Given the description of an element on the screen output the (x, y) to click on. 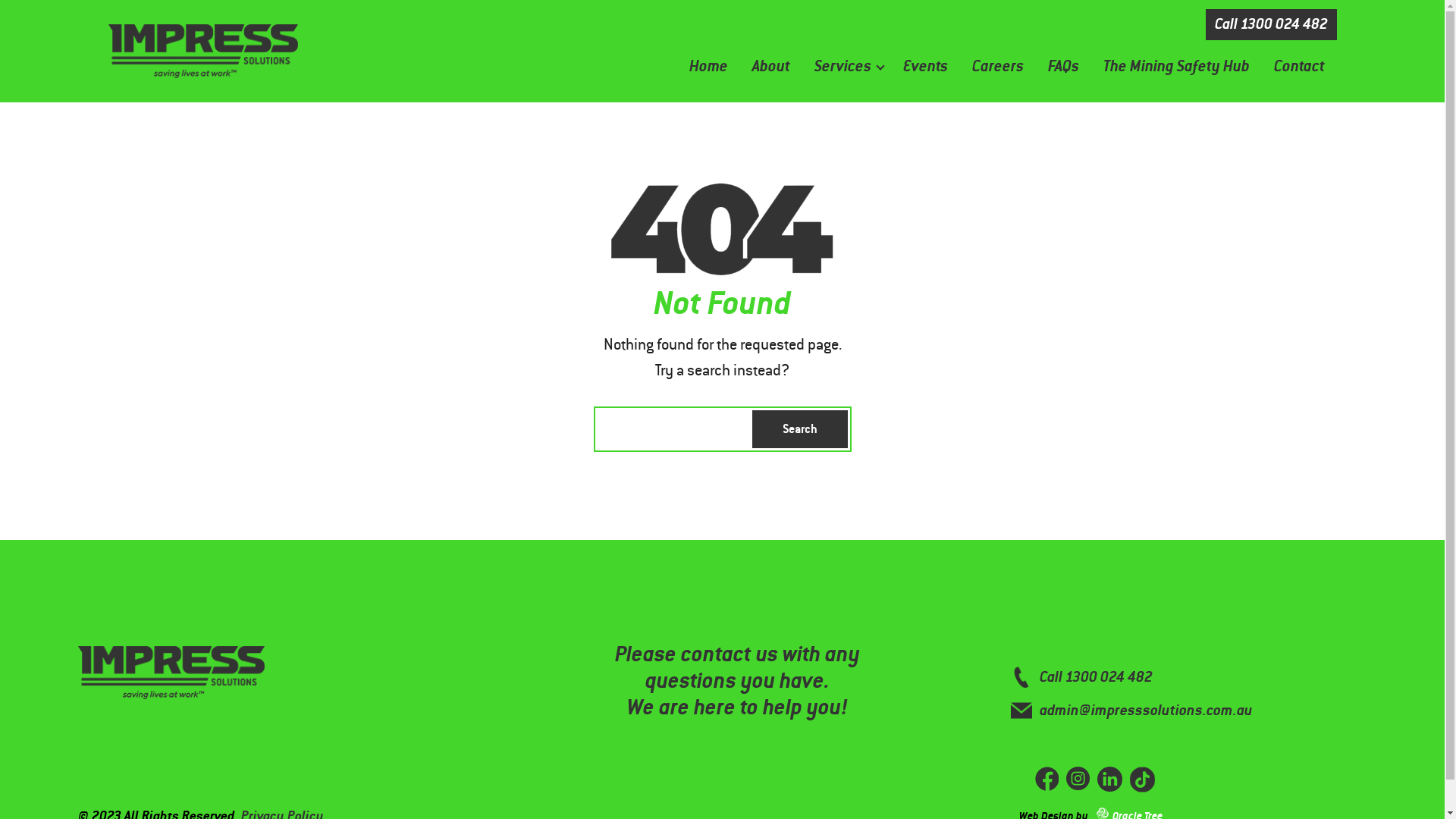
Search Element type: text (799, 429)
Careers Element type: text (997, 65)
Call 1300 024 482 Element type: text (1080, 676)
FAQs Element type: text (1063, 65)
About Element type: text (771, 65)
admin@impresssolutions.com.au Element type: text (1131, 710)
Events Element type: text (924, 65)
Services Element type: text (842, 65)
The Mining Safety Hub Element type: text (1175, 65)
Contact Element type: text (1299, 65)
Home Element type: text (707, 65)
Call 1300 024 482 Element type: text (1270, 24)
